Given the description of an element on the screen output the (x, y) to click on. 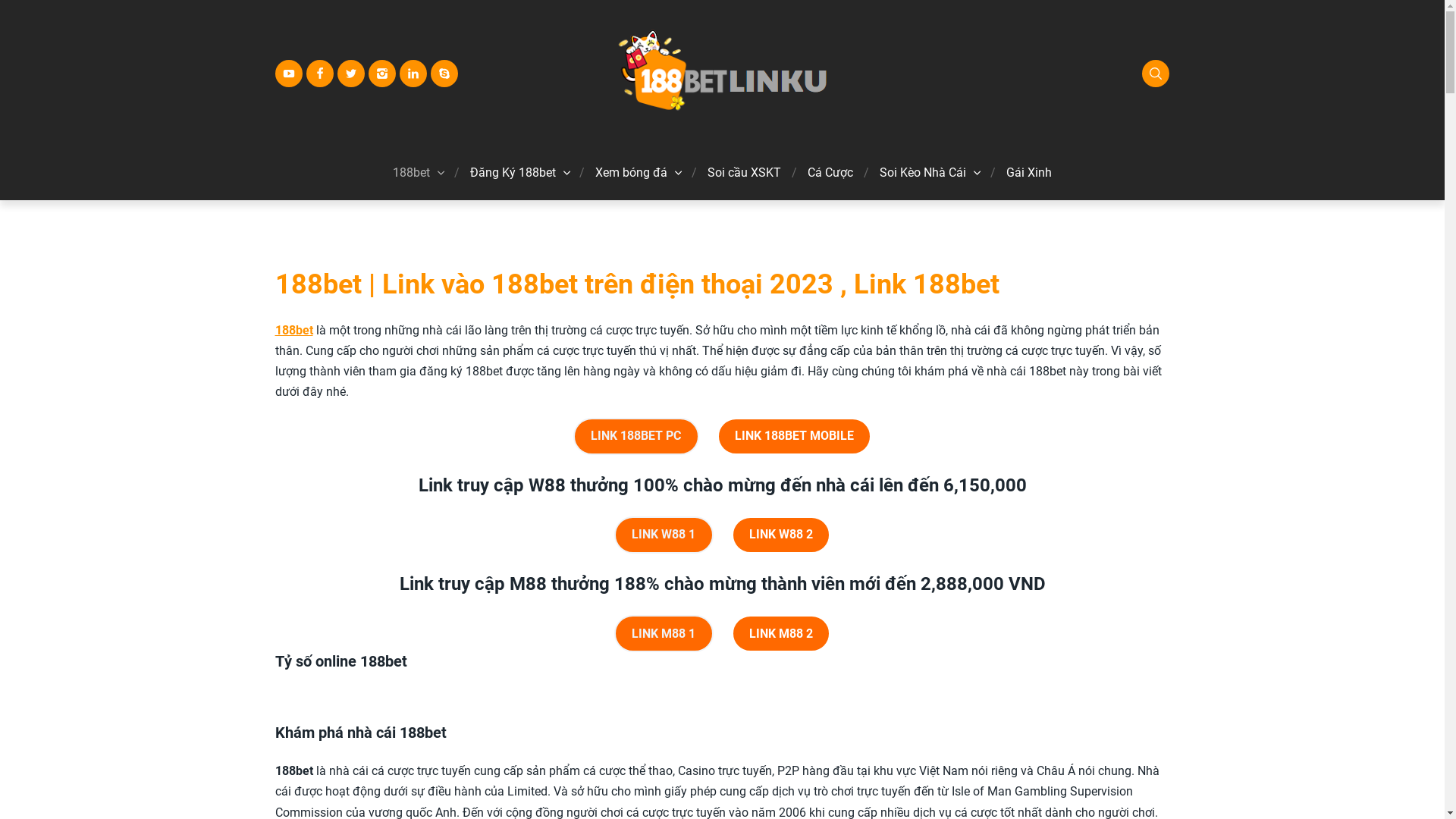
188bet Element type: text (410, 172)
LINK W88 2 Element type: text (780, 534)
LINK M88 1 Element type: text (663, 633)
LINK 188BET MOBILE Element type: text (794, 436)
LINK 188BET PC Element type: text (636, 436)
188bet Element type: text (293, 330)
LINK M88 2 Element type: text (780, 633)
LINK W88 1 Element type: text (663, 534)
